Given the description of an element on the screen output the (x, y) to click on. 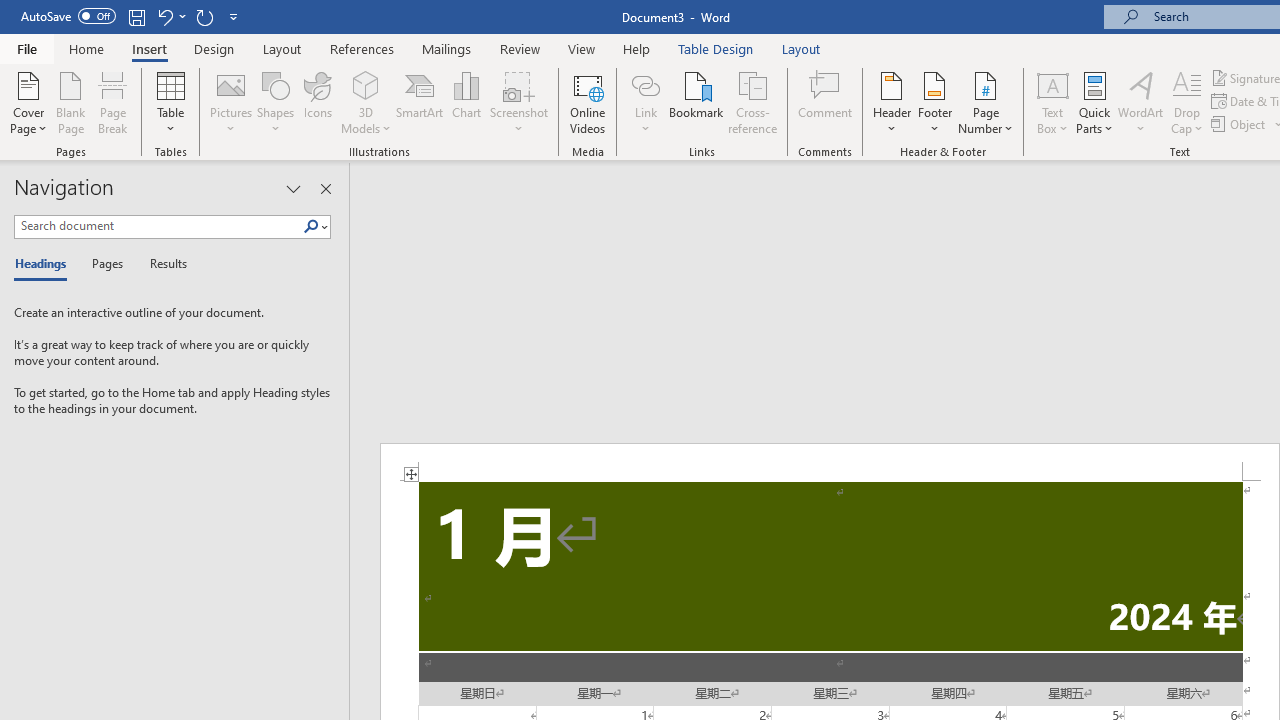
Close pane (325, 188)
Results (161, 264)
Class: NetUIImage (311, 226)
Design (214, 48)
Header (891, 102)
Quick Access Toolbar (131, 16)
Search (315, 227)
Drop Cap (1187, 102)
Comment (825, 102)
WordArt (1141, 102)
Footer (934, 102)
Page Number (986, 102)
Headings (45, 264)
Customize Quick Access Toolbar (234, 15)
AutoSave (68, 16)
